Given the description of an element on the screen output the (x, y) to click on. 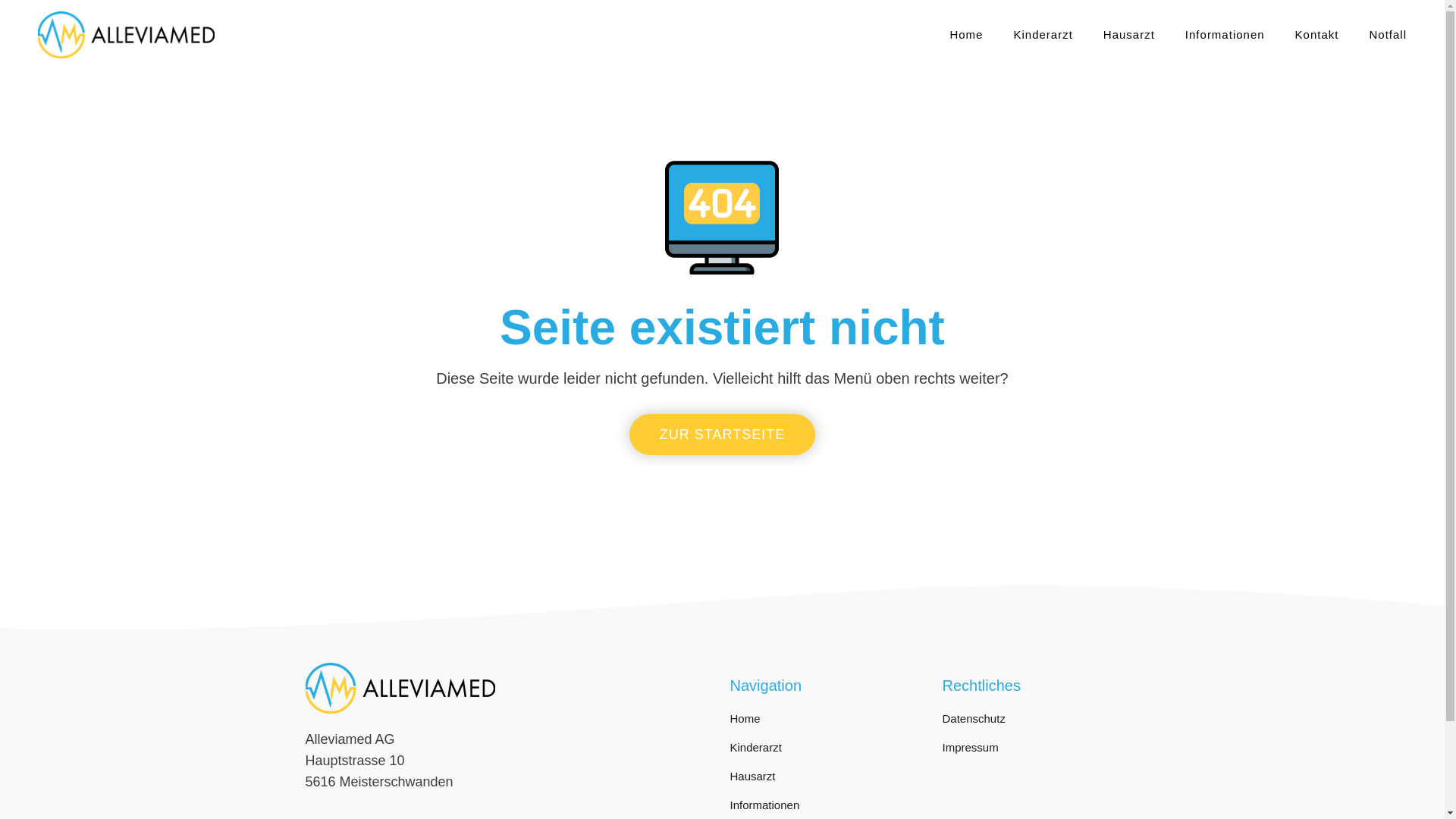
Hausarzt Element type: text (827, 779)
ZUR STARTSEITE Element type: text (722, 434)
Home Element type: text (827, 722)
Kontakt Element type: text (1317, 34)
Datenschutz Element type: text (1040, 722)
Kinderarzt Element type: text (827, 751)
Impressum Element type: text (1040, 751)
Informationen Element type: text (1225, 34)
Notfall Element type: text (1387, 34)
Home Element type: text (965, 34)
Hausarzt Element type: text (1129, 34)
Kinderarzt Element type: text (1042, 34)
